Given the description of an element on the screen output the (x, y) to click on. 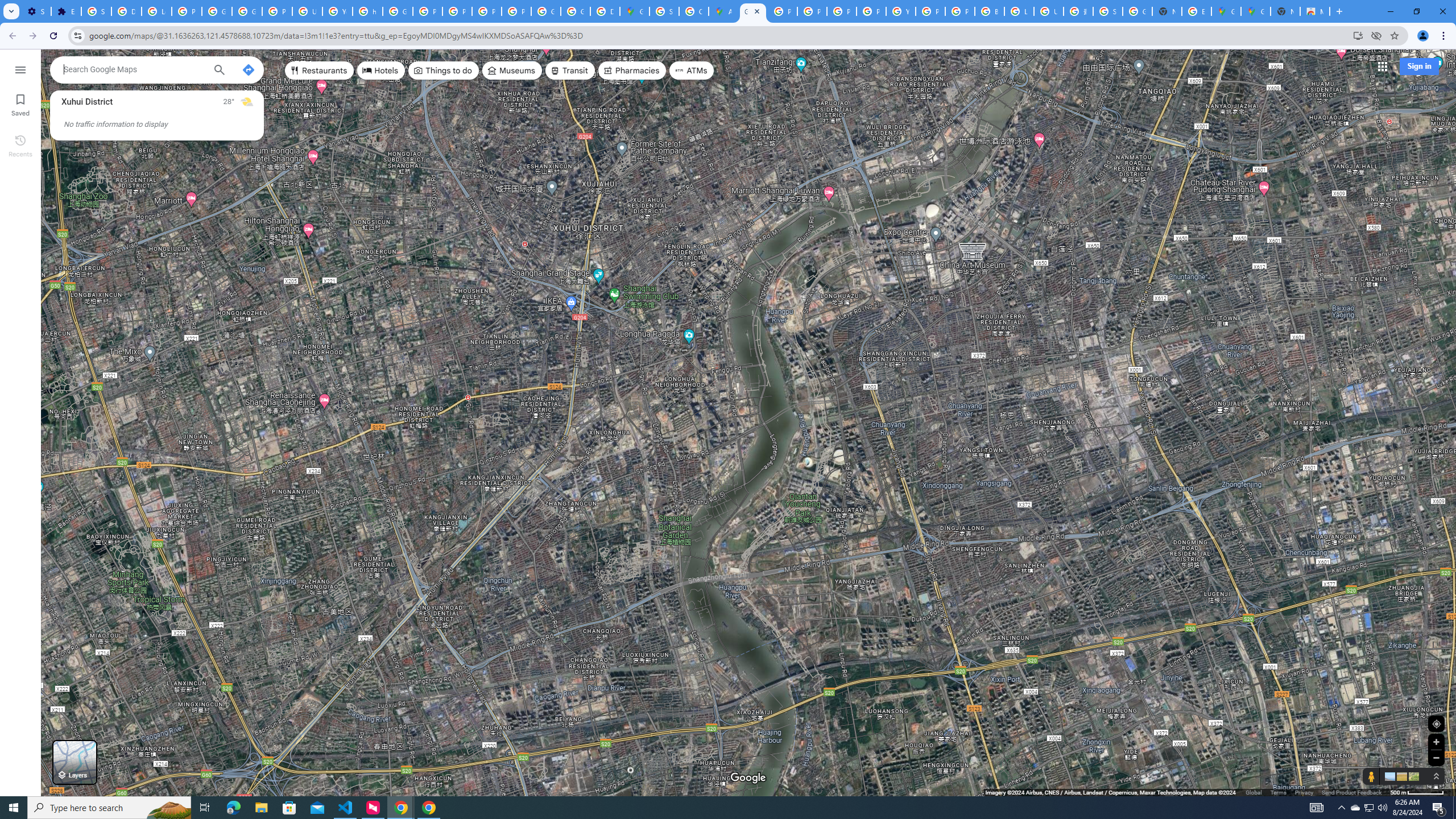
Zoom in (1436, 741)
Privacy Help Center - Policies Help (841, 11)
Menu (20, 68)
https://scholar.google.com/ (367, 11)
Learn how to find your photos - Google Photos Help (156, 11)
Google Maps (1255, 11)
Show Your Location (1436, 723)
Layers (74, 762)
